Given the description of an element on the screen output the (x, y) to click on. 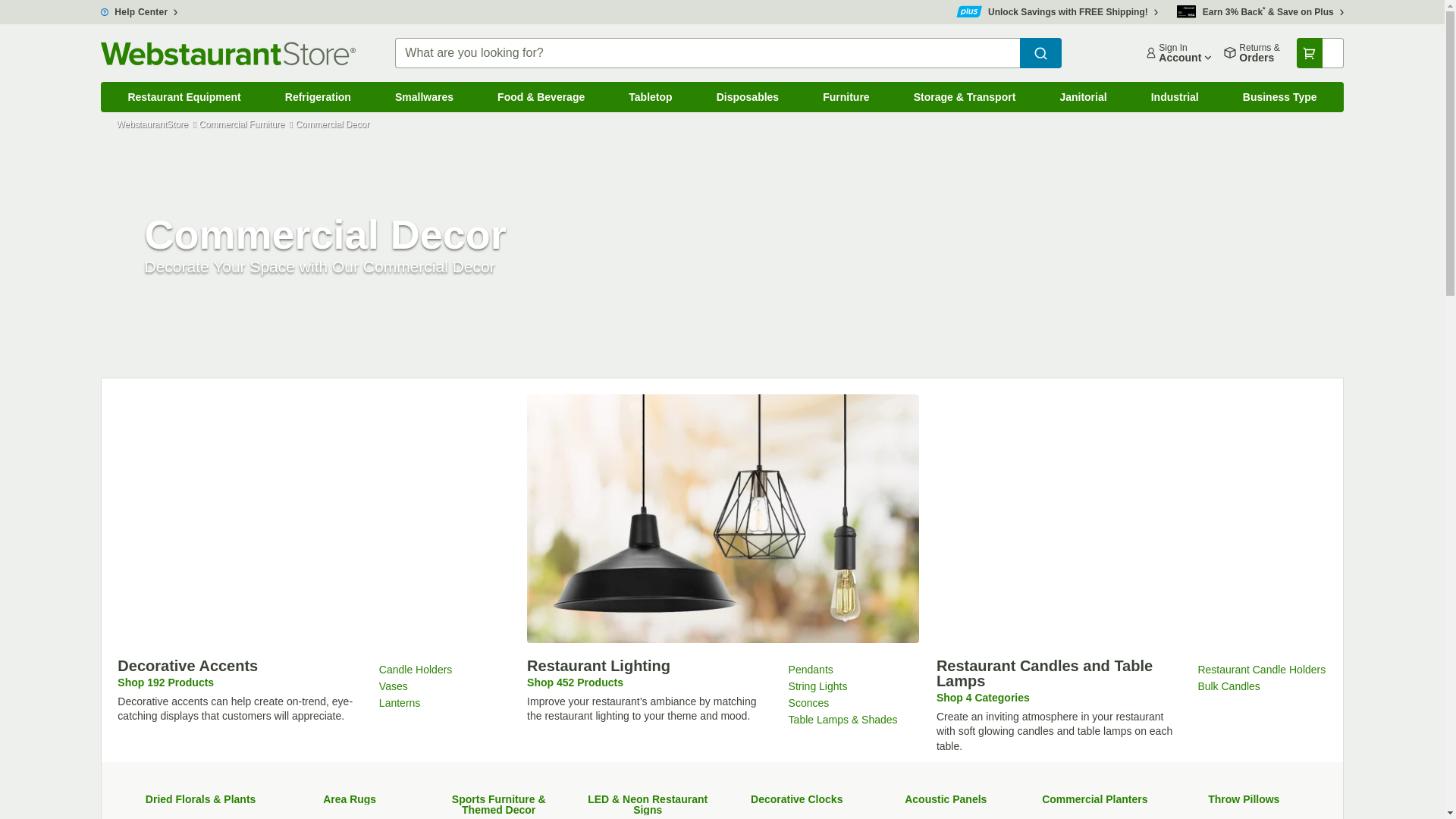
Furniture (1178, 52)
Decorative Clocks (845, 96)
Smallwares (796, 799)
Acoustic Panels (424, 96)
Industrial (945, 799)
Help Center (1175, 96)
Area Rugs (138, 11)
Business Type (350, 799)
Commercial Planters (1280, 96)
